Given the description of an element on the screen output the (x, y) to click on. 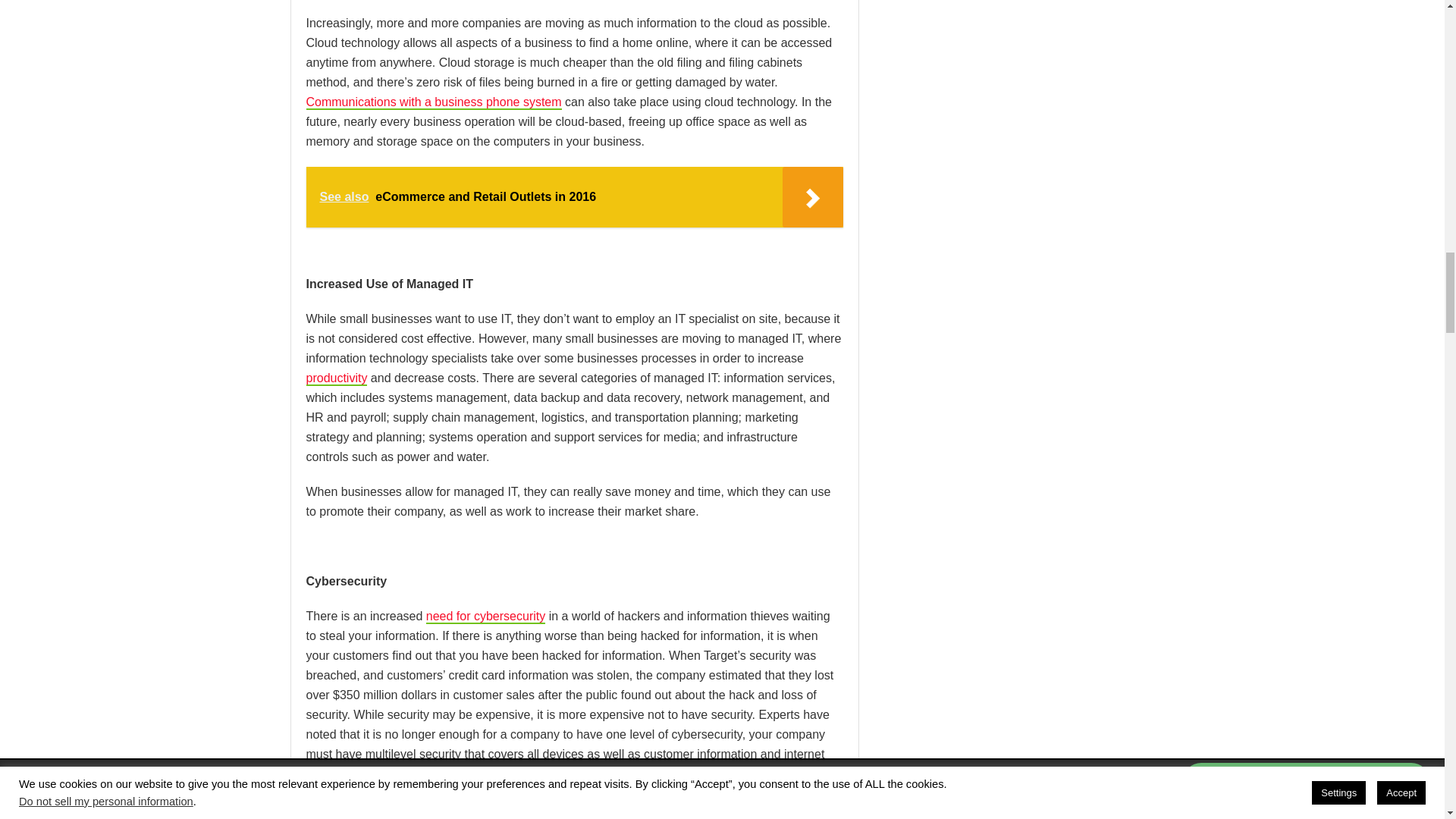
CEO Hacks - Productivity (336, 378)
